Given the description of an element on the screen output the (x, y) to click on. 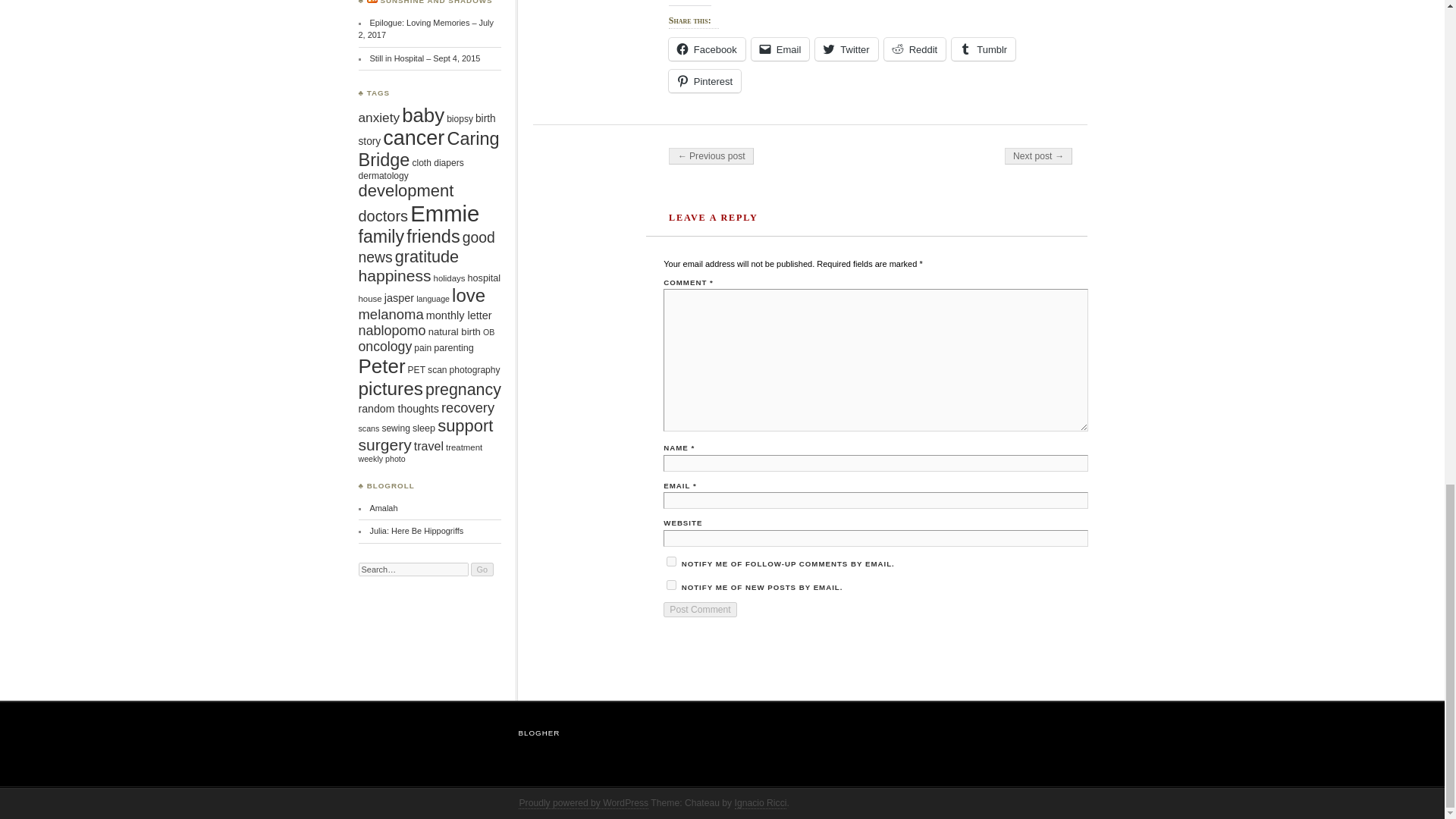
Facebook (706, 48)
Click to share on Tumblr (983, 48)
Email (780, 48)
Post Comment (699, 609)
Click to share on Reddit (914, 48)
Go (482, 569)
Click to share on Twitter (846, 48)
Tumblr (983, 48)
Click to share on Facebook (706, 48)
Hilarious writer who also reads Regency Romance novels (416, 530)
